Given the description of an element on the screen output the (x, y) to click on. 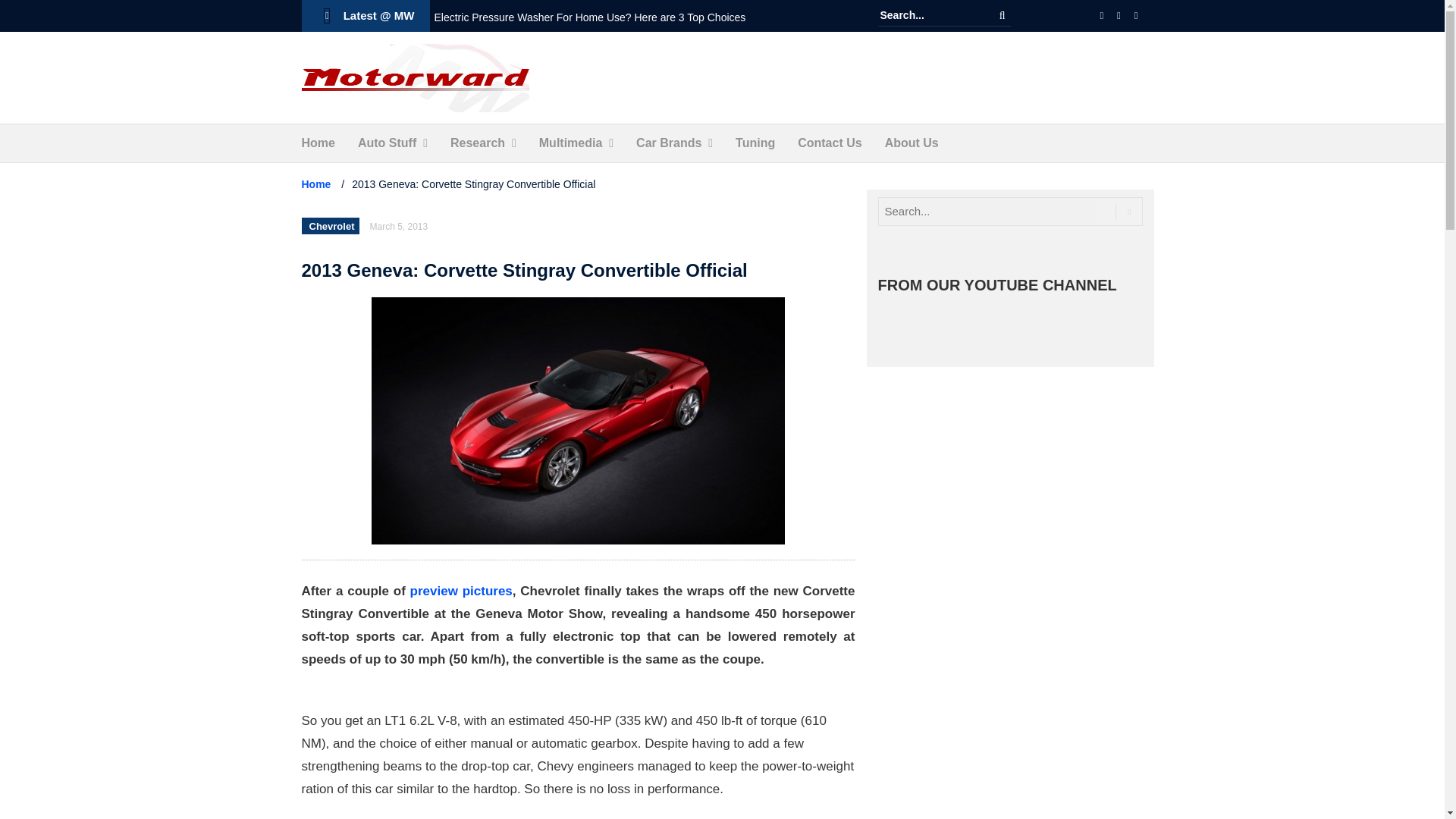
Search   (1002, 14)
Multimedia (570, 143)
Home (317, 143)
Car Brands (668, 143)
2014 Chevrolet CorvetteConv 074 medium 545x326 (577, 420)
Research (477, 143)
Auto Stuff (387, 143)
